Given the description of an element on the screen output the (x, y) to click on. 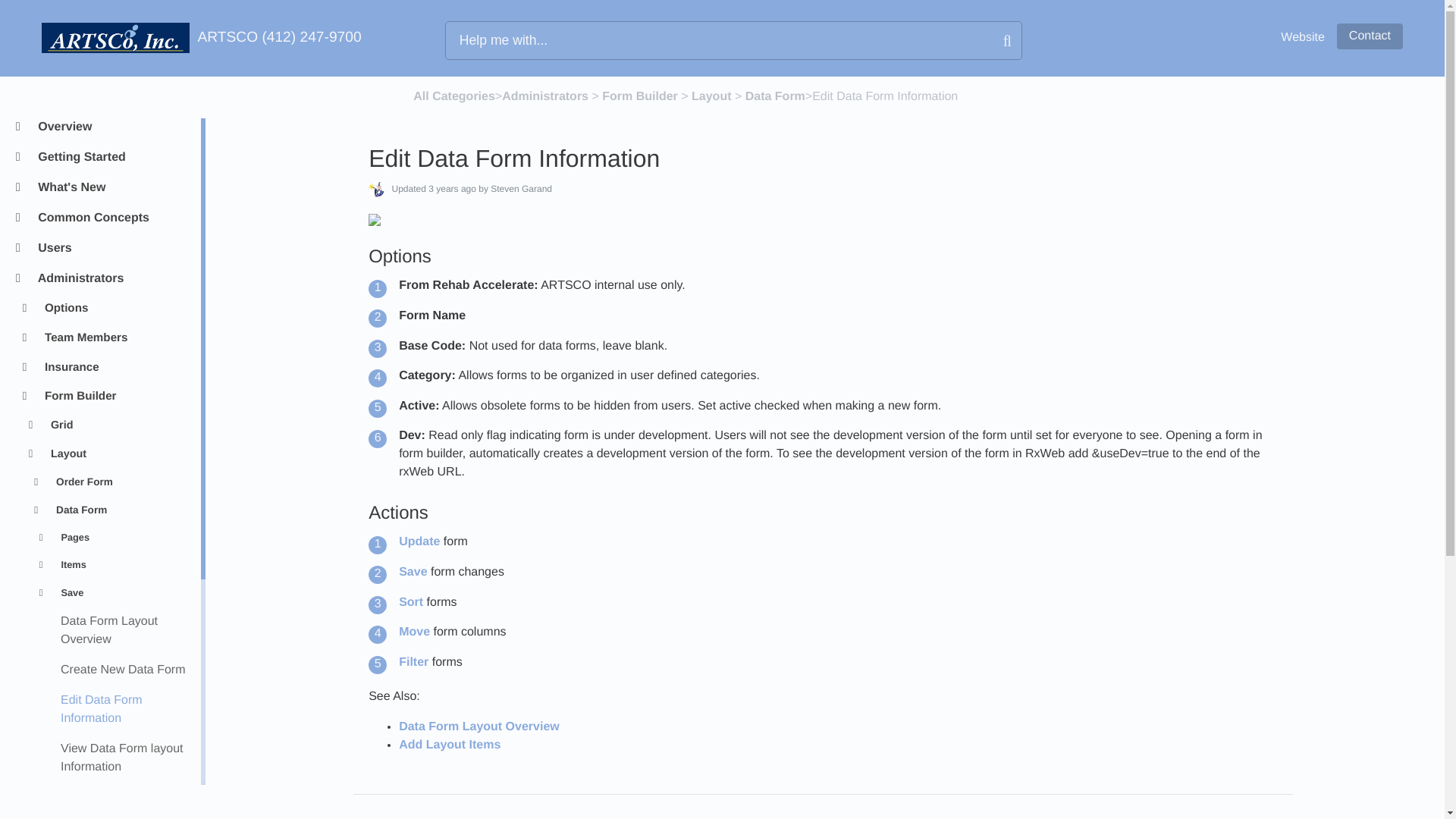
What's New (112, 188)
Common Concepts (112, 218)
Website (1302, 37)
Getting Started (112, 157)
Contact (1369, 36)
Overview (112, 126)
